Given the description of an element on the screen output the (x, y) to click on. 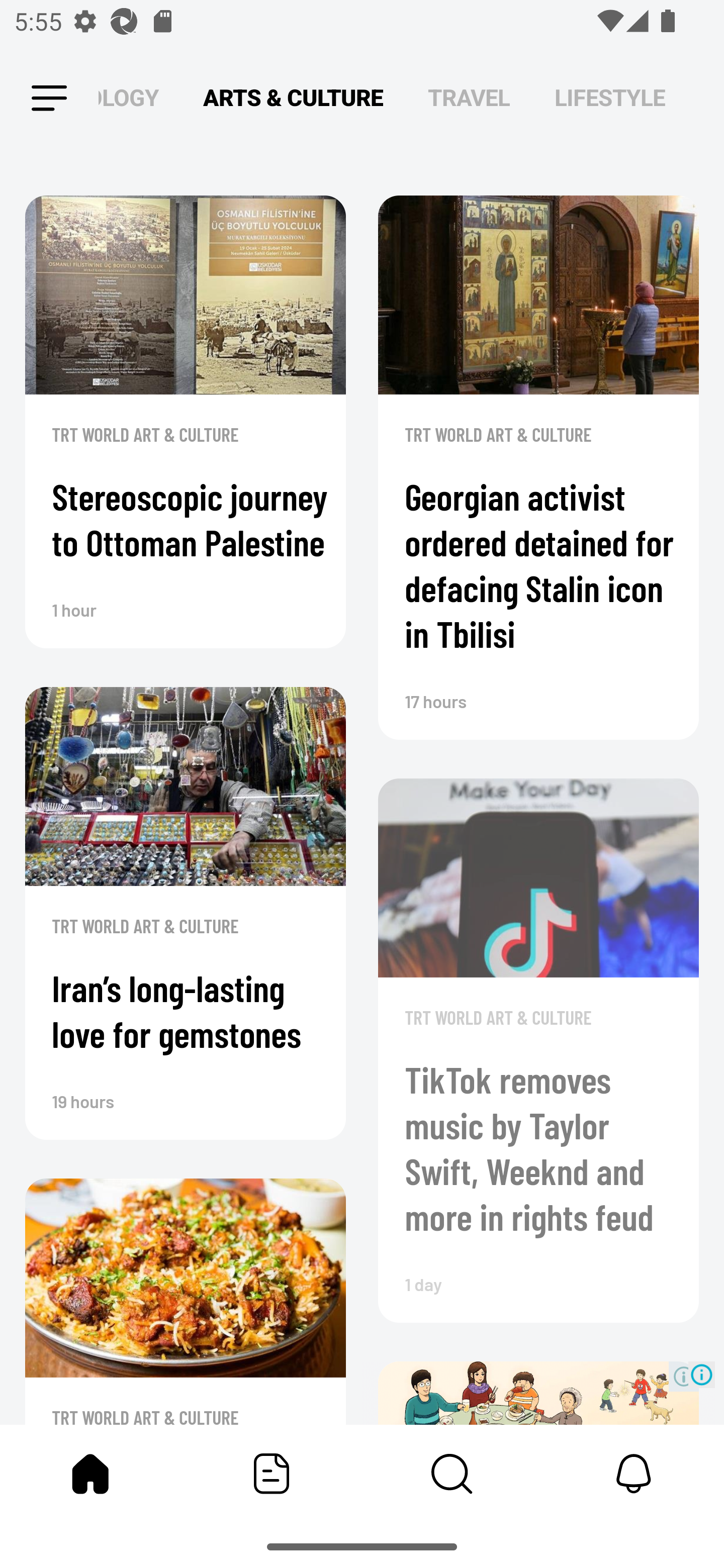
Leading Icon (49, 98)
TECHNOLOGY (128, 97)
TRAVEL (469, 97)
LIFESTYLE (609, 97)
Ad Choices Icon (701, 1374)
Featured (271, 1473)
Content Store (452, 1473)
Notifications (633, 1473)
